Given the description of an element on the screen output the (x, y) to click on. 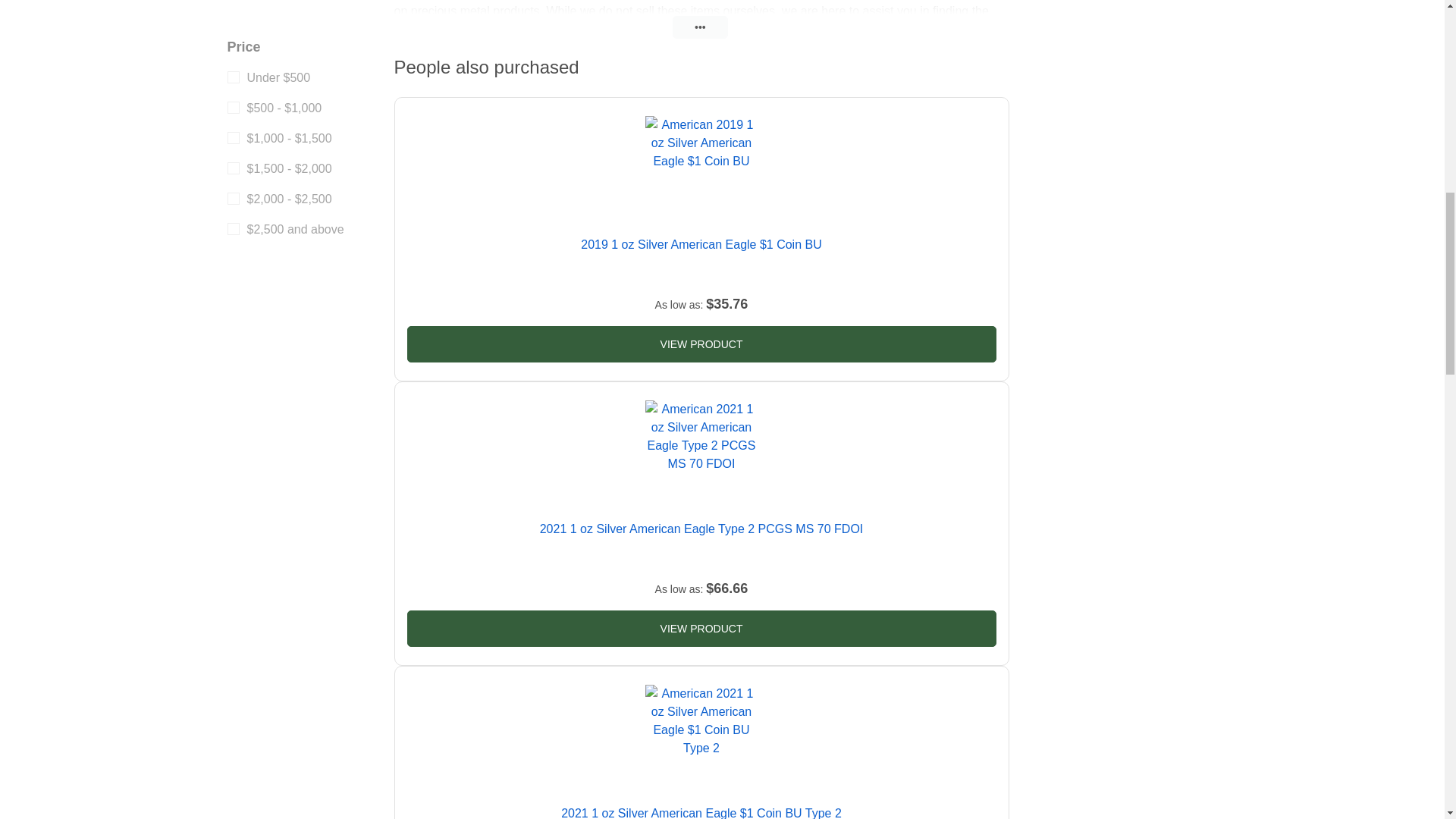
0.00-500.00 (233, 77)
500.00-1000.00 (233, 107)
2000.00-2500.00 (233, 198)
1500.00-2000.00 (233, 168)
2500.00-and-above (233, 228)
1000.00-1500.00 (233, 137)
